Given the description of an element on the screen output the (x, y) to click on. 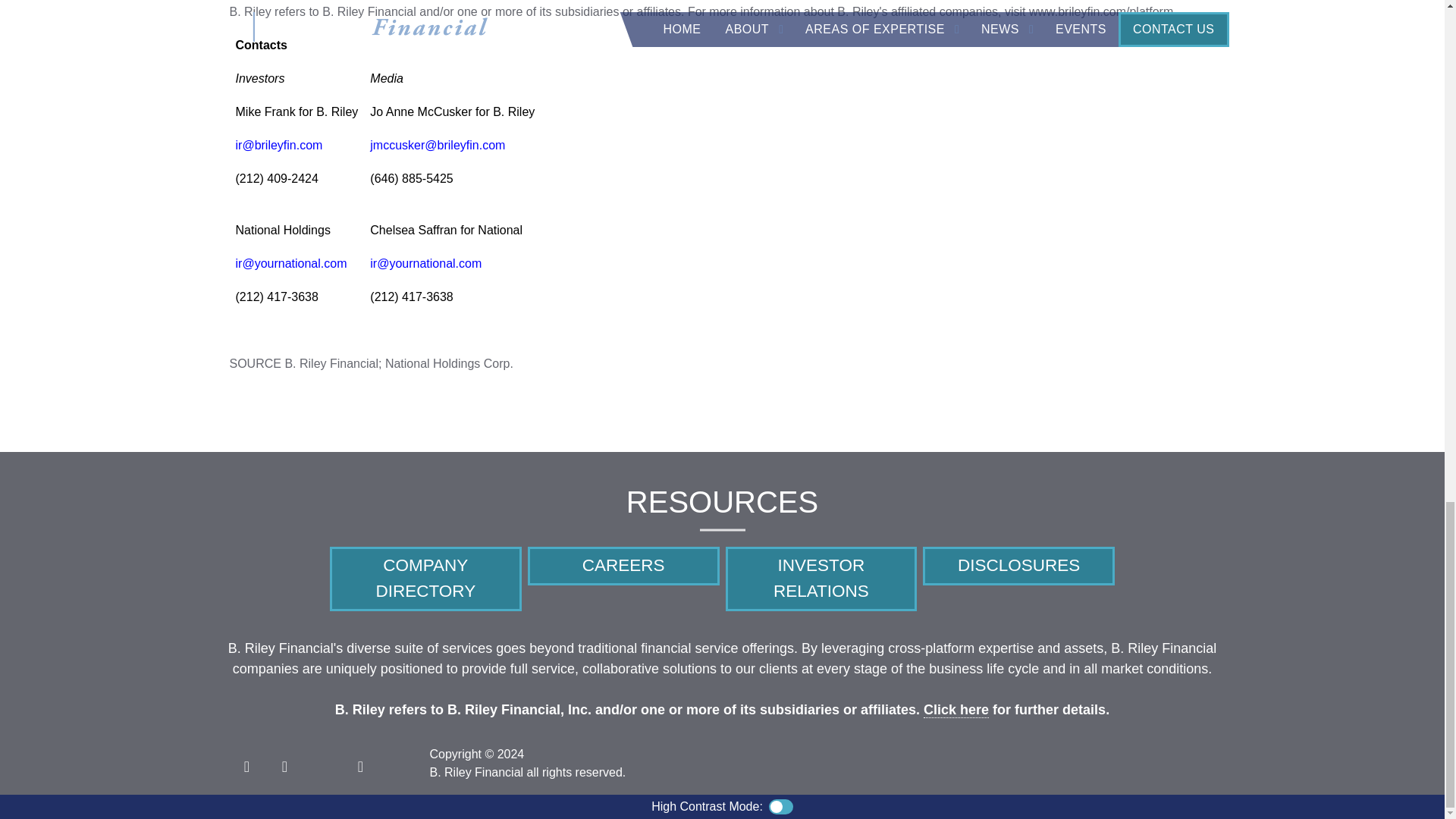
angieslist (321, 763)
LinkedIn (283, 763)
homeadvisor (397, 763)
yelp (359, 763)
Twitter (245, 763)
